Given the description of an element on the screen output the (x, y) to click on. 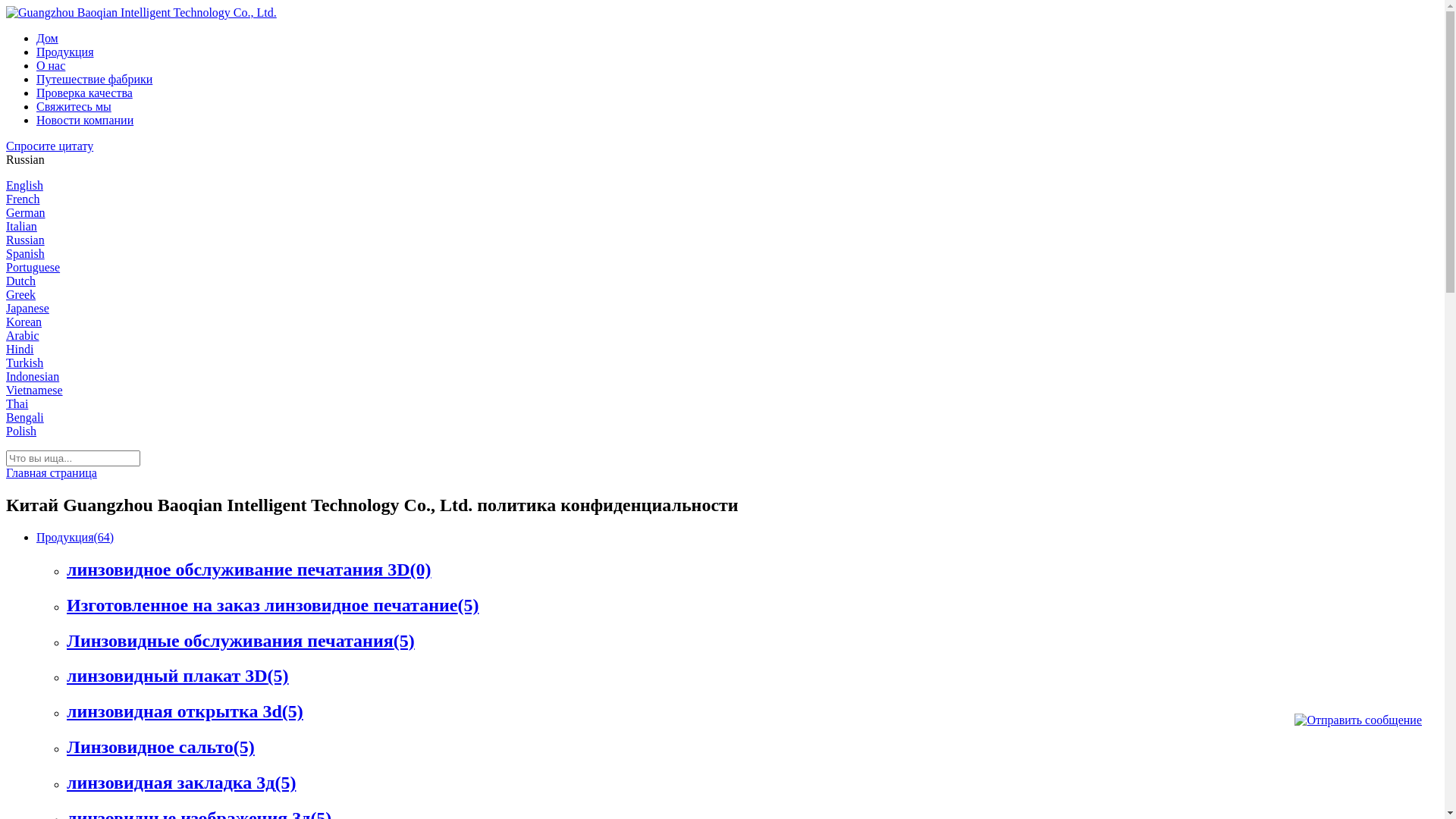
Japanese Element type: text (27, 307)
French Element type: text (22, 198)
Arabic Element type: text (22, 335)
Italian Element type: text (21, 225)
Dutch Element type: text (20, 280)
Polish Element type: text (21, 430)
Turkish Element type: text (24, 362)
Search Element type: text (21, 7)
Greek Element type: text (20, 294)
Korean Element type: text (23, 321)
Hindi Element type: text (19, 348)
Indonesian Element type: text (32, 376)
Guangzhou Baoqian Intelligent Technology Co., Ltd. Element type: hover (141, 12)
English Element type: text (24, 184)
Thai Element type: text (17, 403)
Bengali Element type: text (24, 417)
Vietnamese Element type: text (34, 389)
German Element type: text (25, 212)
Spanish Element type: text (25, 253)
Russian Element type: text (25, 239)
Portuguese Element type: text (32, 266)
